Given the description of an element on the screen output the (x, y) to click on. 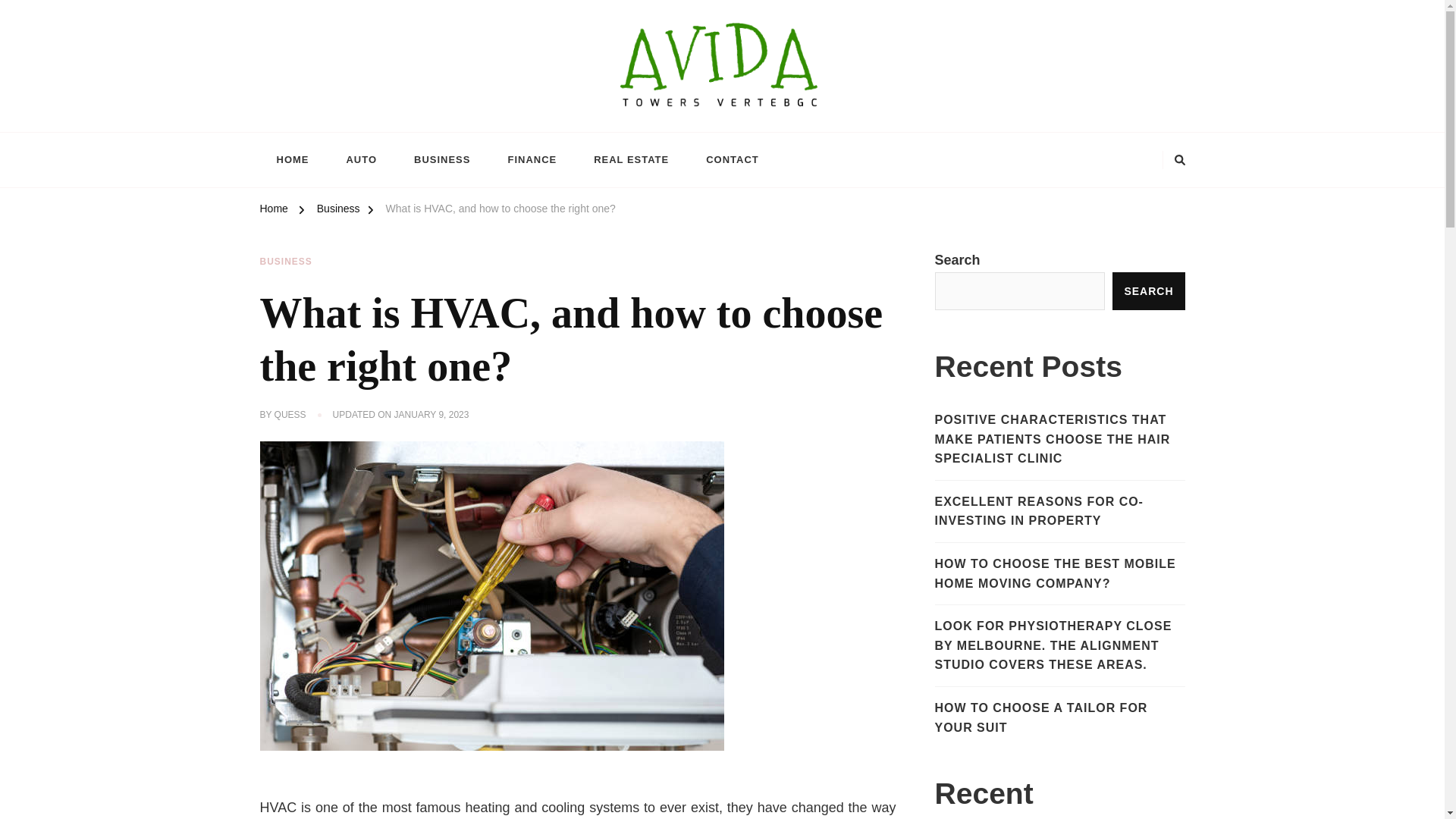
Business (338, 210)
REAL ESTATE (630, 160)
AUTO (361, 160)
Home (272, 210)
BUSINESS (441, 160)
What is HVAC, and how to choose the right one? (500, 210)
Avida Towers Vertebgc (370, 123)
EXCELLENT REASONS FOR CO-INVESTING IN PROPERTY (1059, 511)
CONTACT (732, 160)
SEARCH (1148, 290)
HOME (291, 160)
QUESS (290, 415)
FINANCE (531, 160)
HOW TO CHOOSE THE BEST MOBILE HOME MOVING COMPANY? (1059, 573)
